Given the description of an element on the screen output the (x, y) to click on. 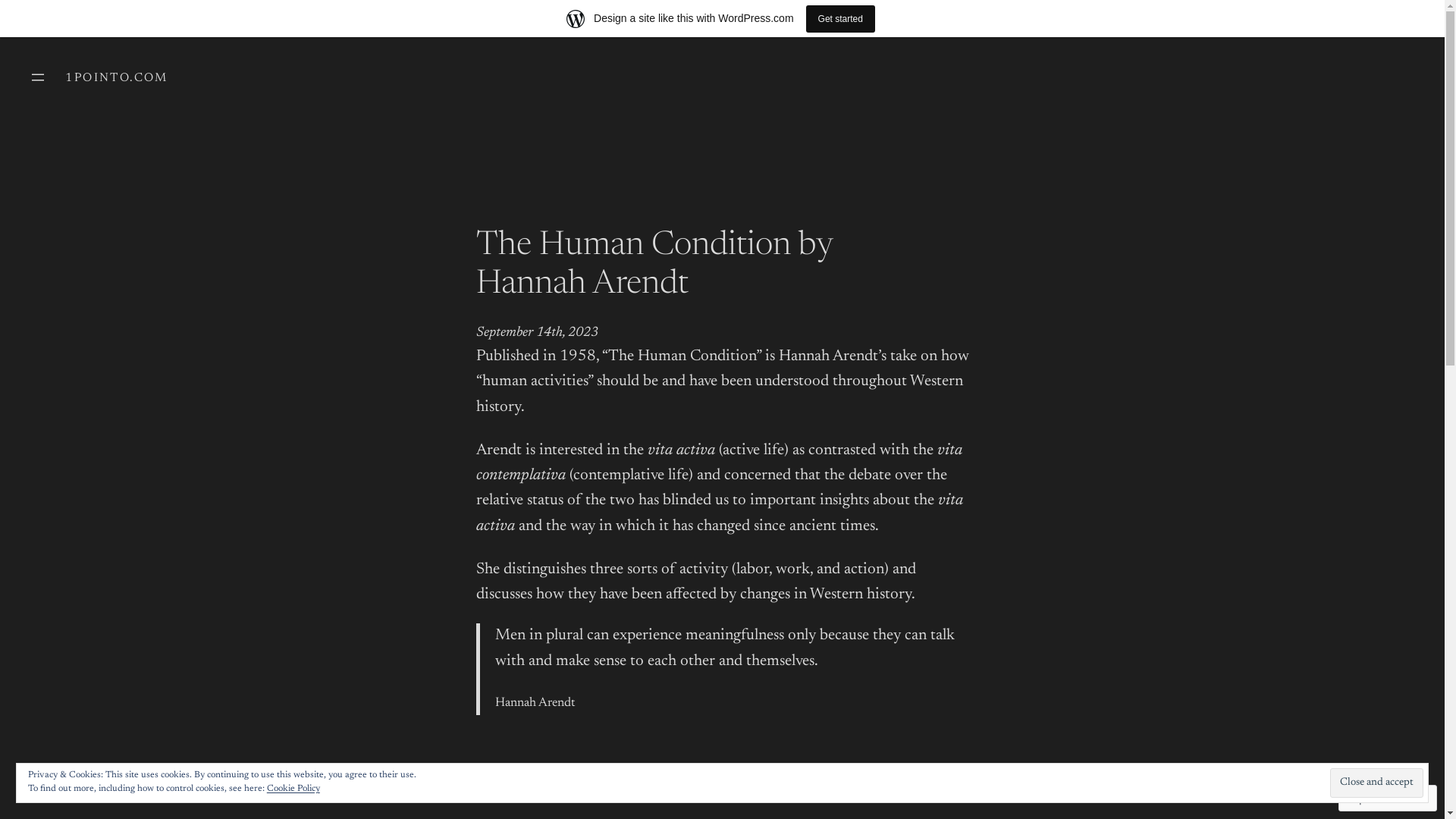
September 14th, 2023 Element type: text (537, 332)
Get started Element type: text (840, 17)
Cookie Policy Element type: text (293, 788)
Follow Element type: text (1372, 797)
1POINTO.COM Element type: text (116, 78)
The Human Condition by Hannah Arendt Element type: text (722, 265)
Close and accept Element type: text (1376, 782)
